Given the description of an element on the screen output the (x, y) to click on. 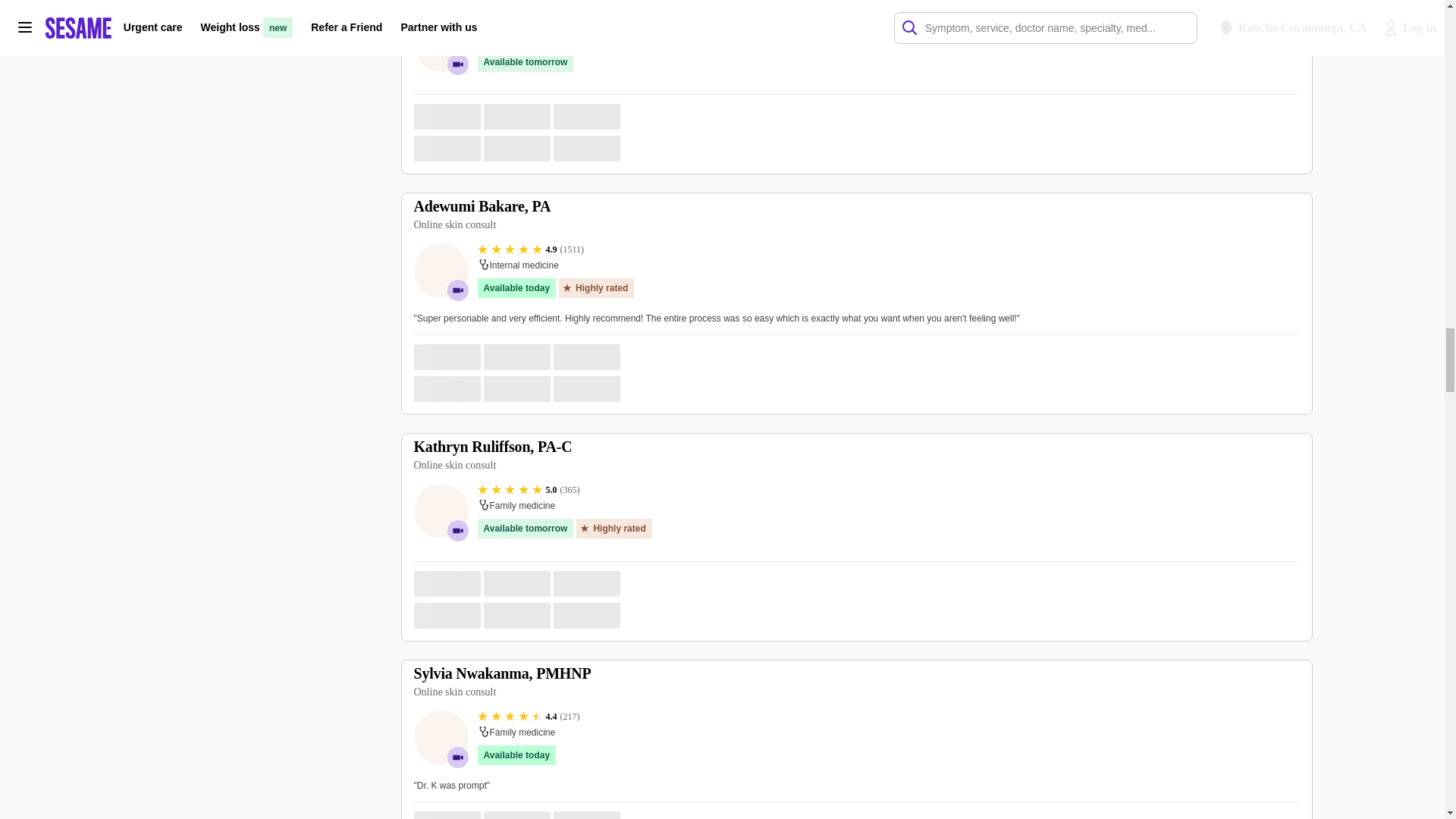
This provider has an overall rating of 0.0 out of 5 stars. (523, 22)
This provider has an overall rating of 4.9 out of 5 stars. (531, 249)
This provider has an overall rating of 5.0 out of 5 stars. (528, 490)
This provider has an overall rating of 4.4 out of 5 stars. (528, 716)
